Given the description of an element on the screen output the (x, y) to click on. 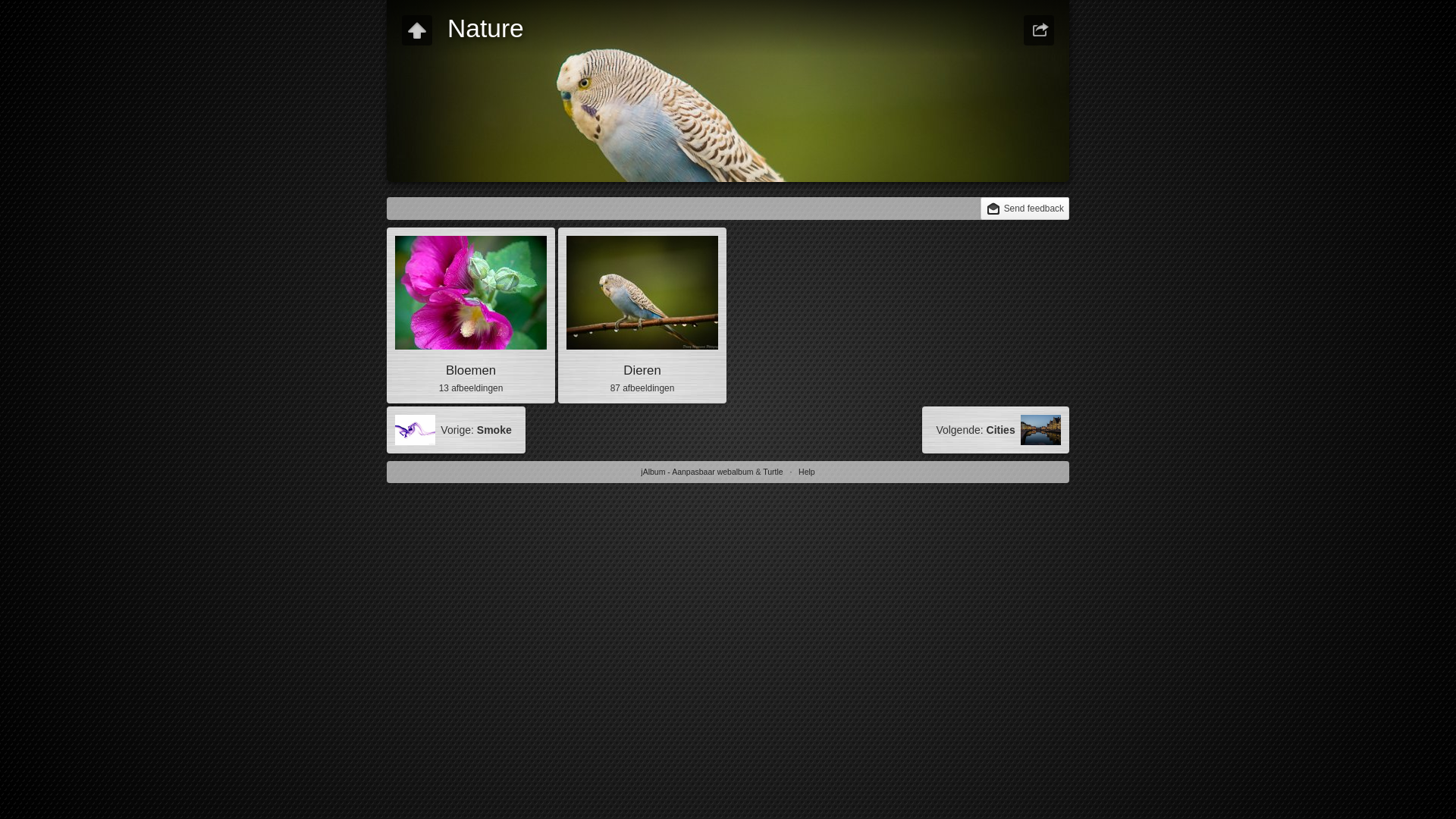
Vorige: Smoke Element type: text (455, 429)
Turtle Element type: text (772, 471)
Dieren Element type: text (641, 370)
  Element type: text (416, 30)
Bloemen Element type: text (470, 370)
Send feedback Element type: text (1024, 208)
Volgende: Cities Element type: text (995, 429)
  Element type: text (1038, 30)
jAlbum - Aanpasbaar webalbum Element type: text (696, 471)
Help Element type: text (806, 471)
